Given the description of an element on the screen output the (x, y) to click on. 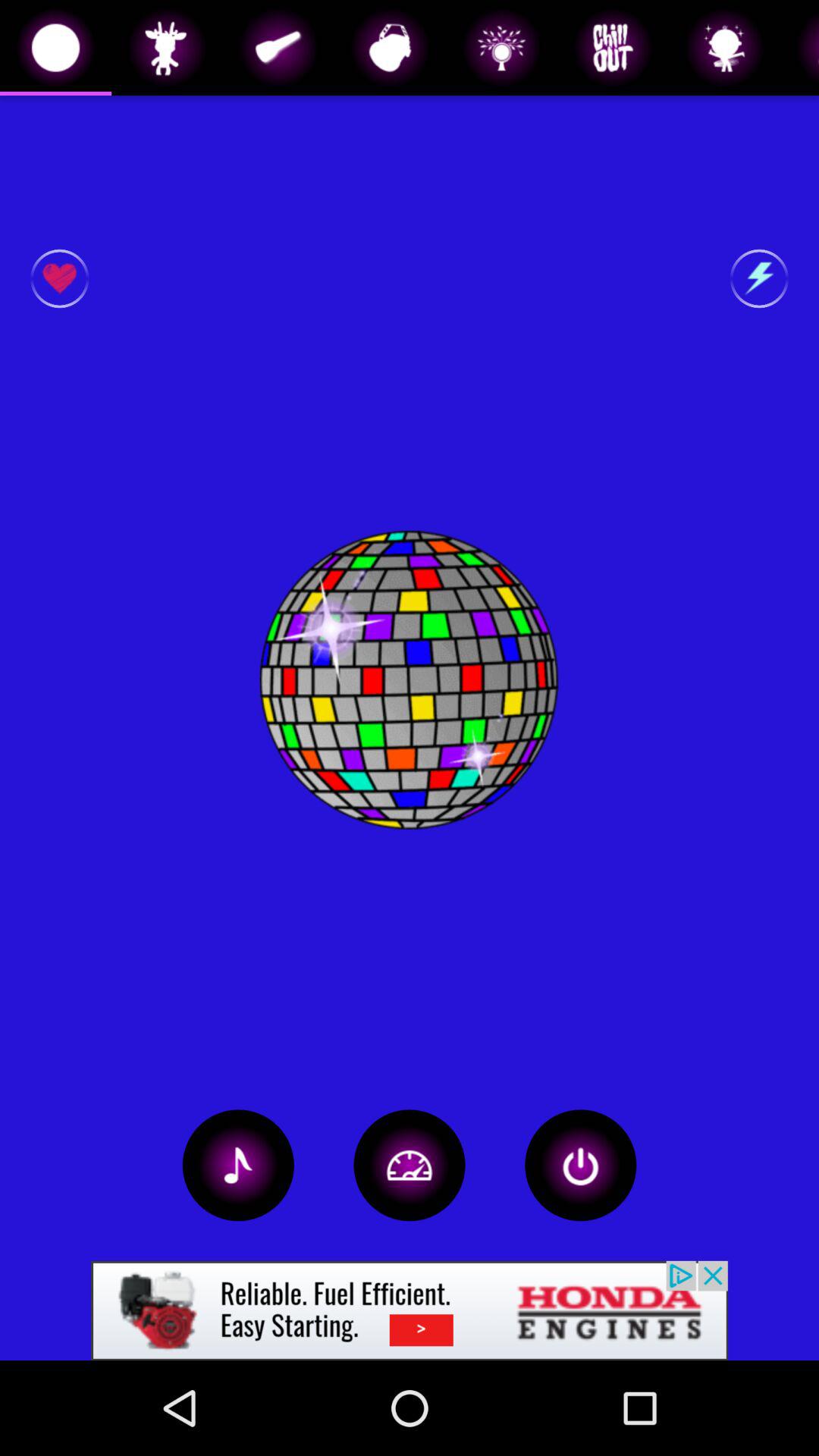
setting page (409, 1165)
